Given the description of an element on the screen output the (x, y) to click on. 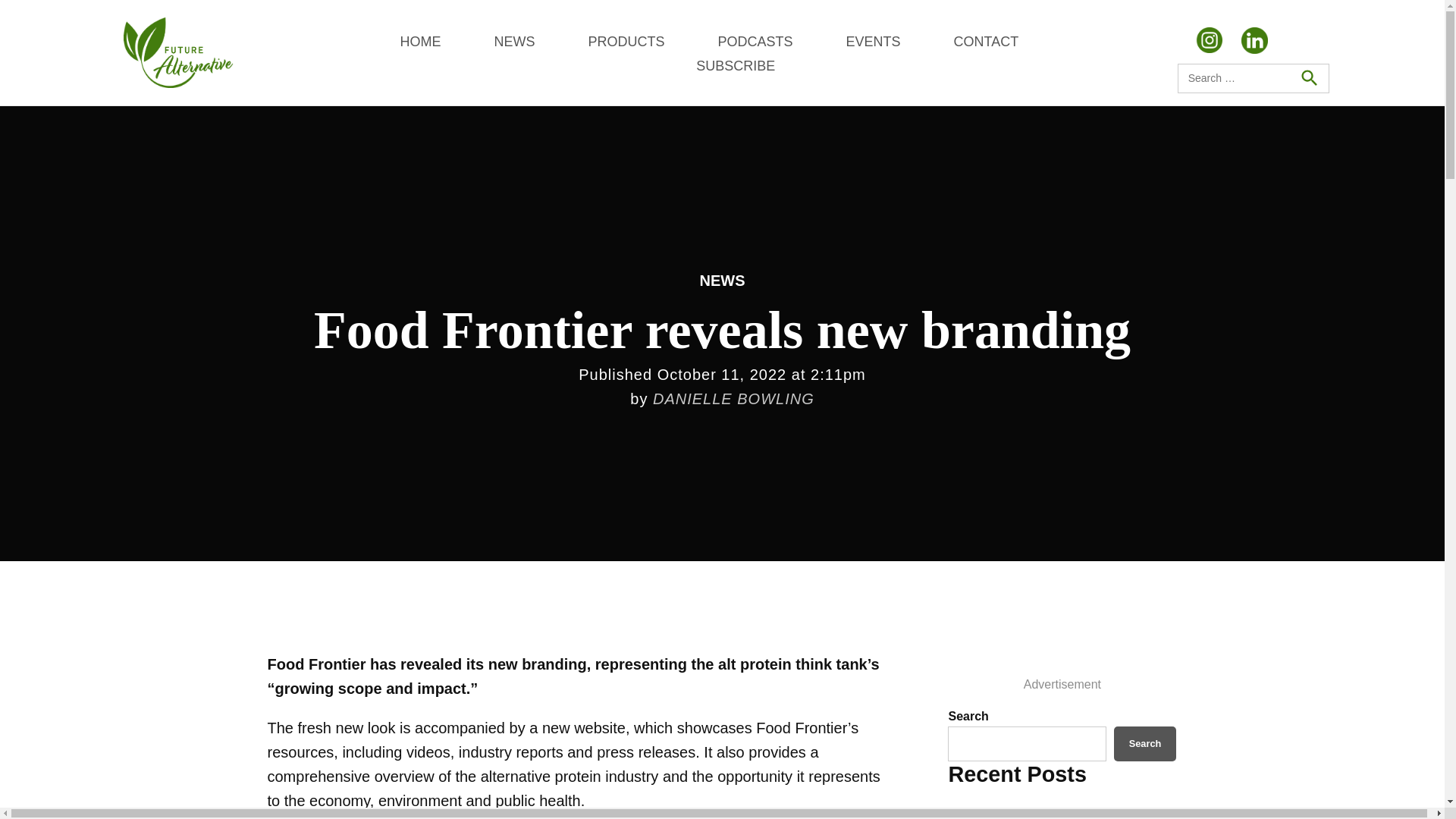
PRODUCTS (625, 40)
NEWS (513, 40)
EVENTS (872, 40)
Search (1144, 743)
Search (1308, 77)
CONTACT (986, 40)
NEWS (721, 280)
PODCASTS (754, 40)
POSTS BY DANIELLE BOWLING (732, 398)
DANIELLE BOWLING (732, 398)
HOME (419, 40)
SUBSCRIBE (734, 64)
